Given the description of an element on the screen output the (x, y) to click on. 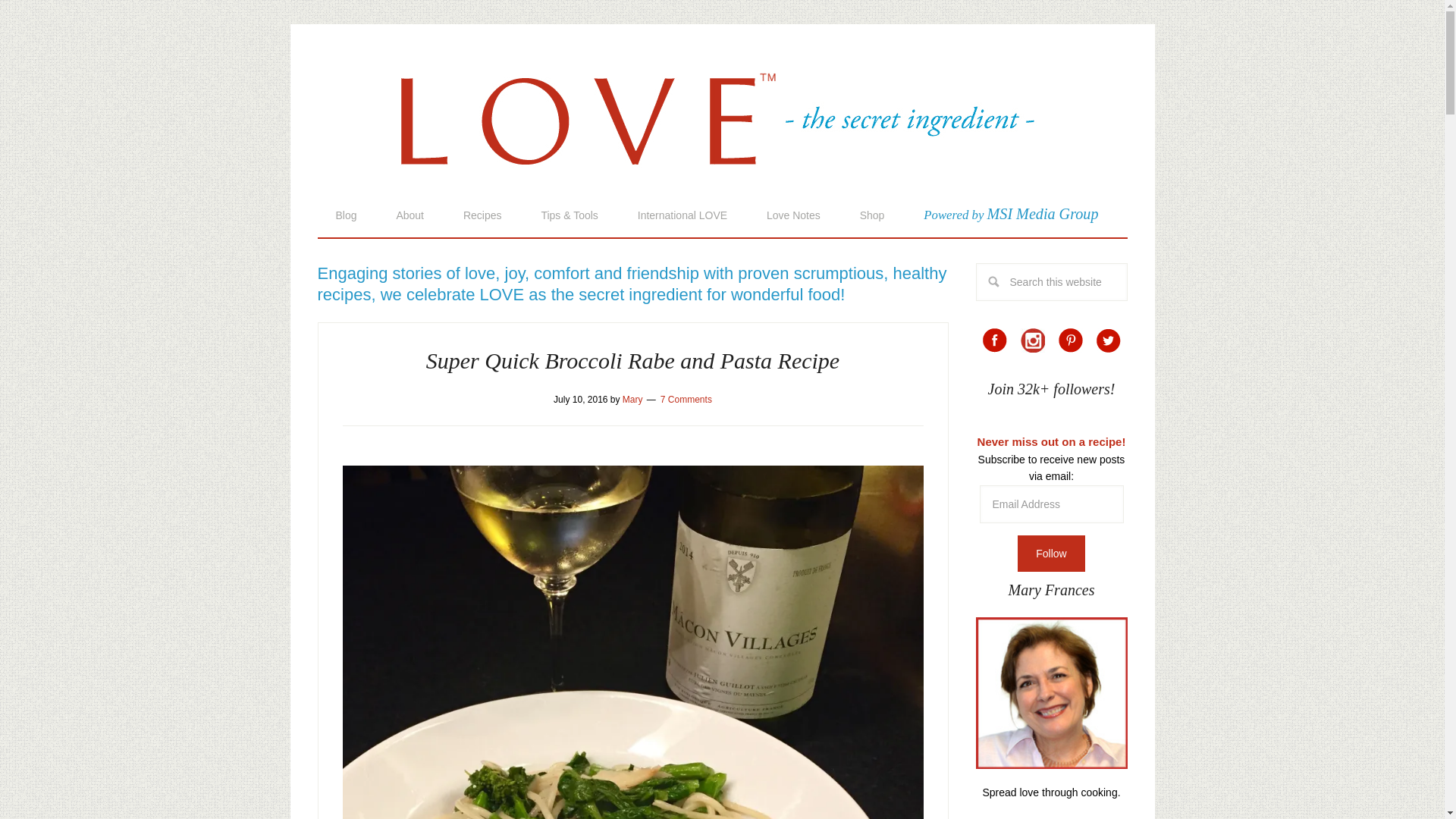
International LOVE (682, 214)
About (409, 214)
Love Notes (793, 214)
Recipes (482, 214)
Shop (871, 214)
Follow (1050, 553)
Instagram (1032, 340)
7 Comments (686, 398)
